Given the description of an element on the screen output the (x, y) to click on. 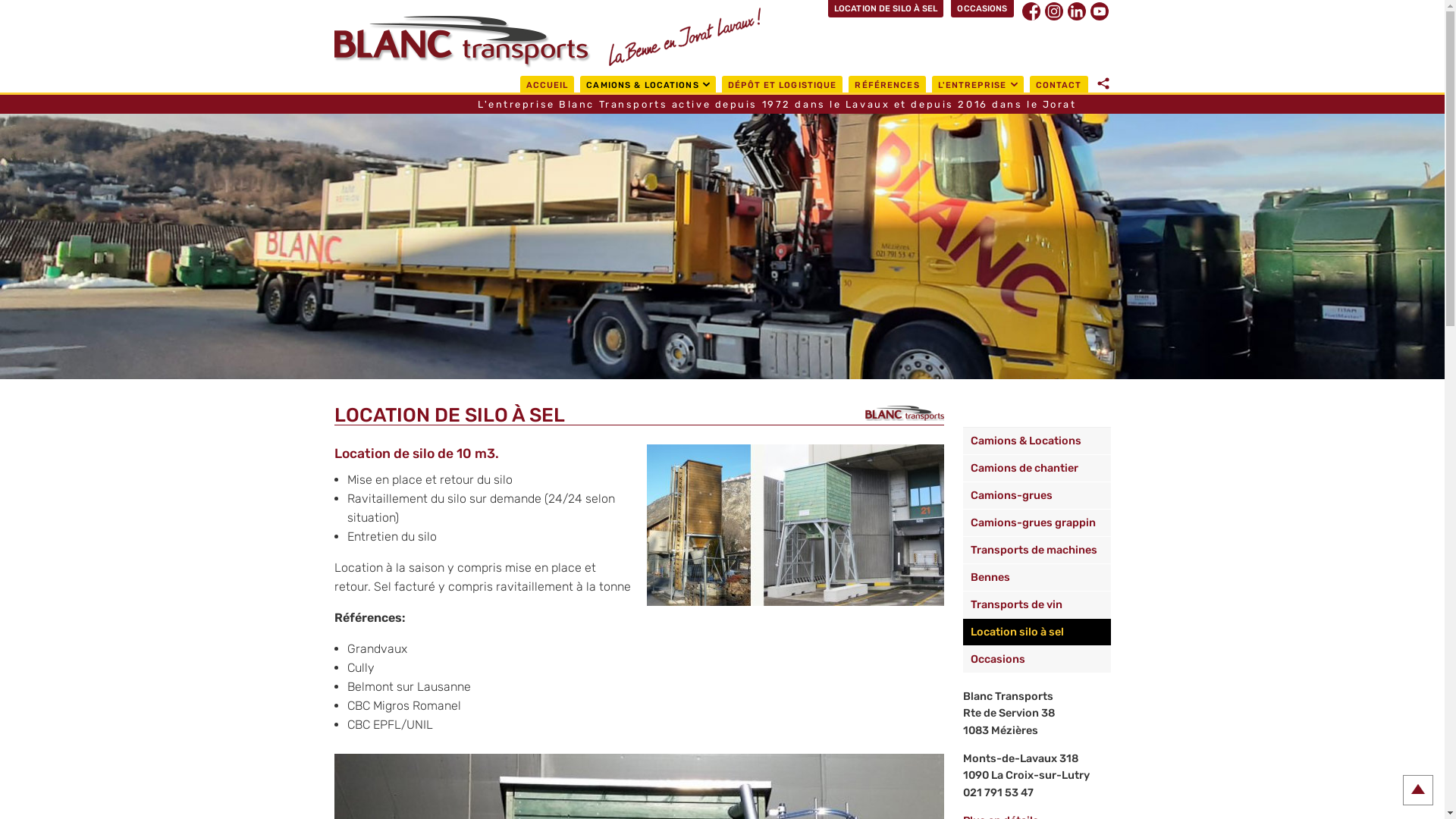
L'ENTREPRISE Element type: text (977, 83)
Transports de vin Element type: text (1036, 604)
Bennes Element type: text (1036, 577)
Occasions Element type: text (1036, 659)
CAMIONS & LOCATIONS Element type: text (647, 83)
Camions-grues grappin Element type: text (1036, 522)
Camions & Locations Element type: text (1036, 440)
Camions-grues Element type: text (1036, 495)
ACCUEIL Element type: text (547, 83)
Camions de chantier Element type: text (1036, 468)
OCCASIONS Element type: text (981, 8)
CONTACT Element type: text (1058, 83)
Transports de machines Element type: text (1036, 550)
